Given the description of an element on the screen output the (x, y) to click on. 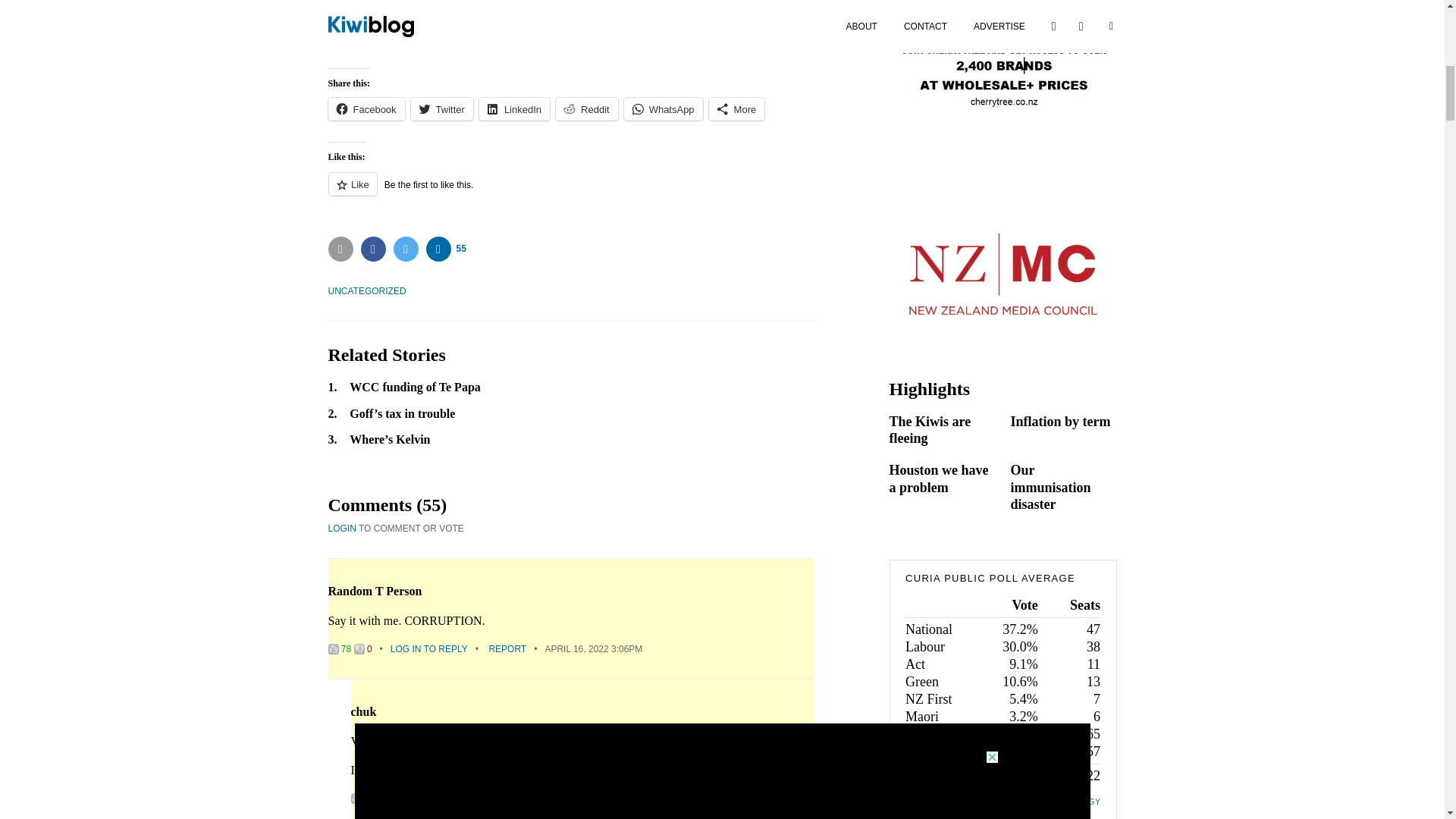
APRIL 16, 2022 3:06PM (593, 648)
Click to share on LinkedIn (514, 108)
LOGIN (341, 528)
LOG IN TO REPLY (428, 648)
APRIL 16, 2022 5:00PM (616, 798)
Facebook (365, 108)
Email (339, 248)
Click to share on Reddit (586, 108)
WhatsApp (663, 108)
Click to add a comment (445, 248)
Click to share via email (339, 248)
LOG IN TO REPLY (451, 798)
UNCATEGORIZED (366, 290)
Facebook (373, 248)
Click to share on Twitter (441, 108)
